Given the description of an element on the screen output the (x, y) to click on. 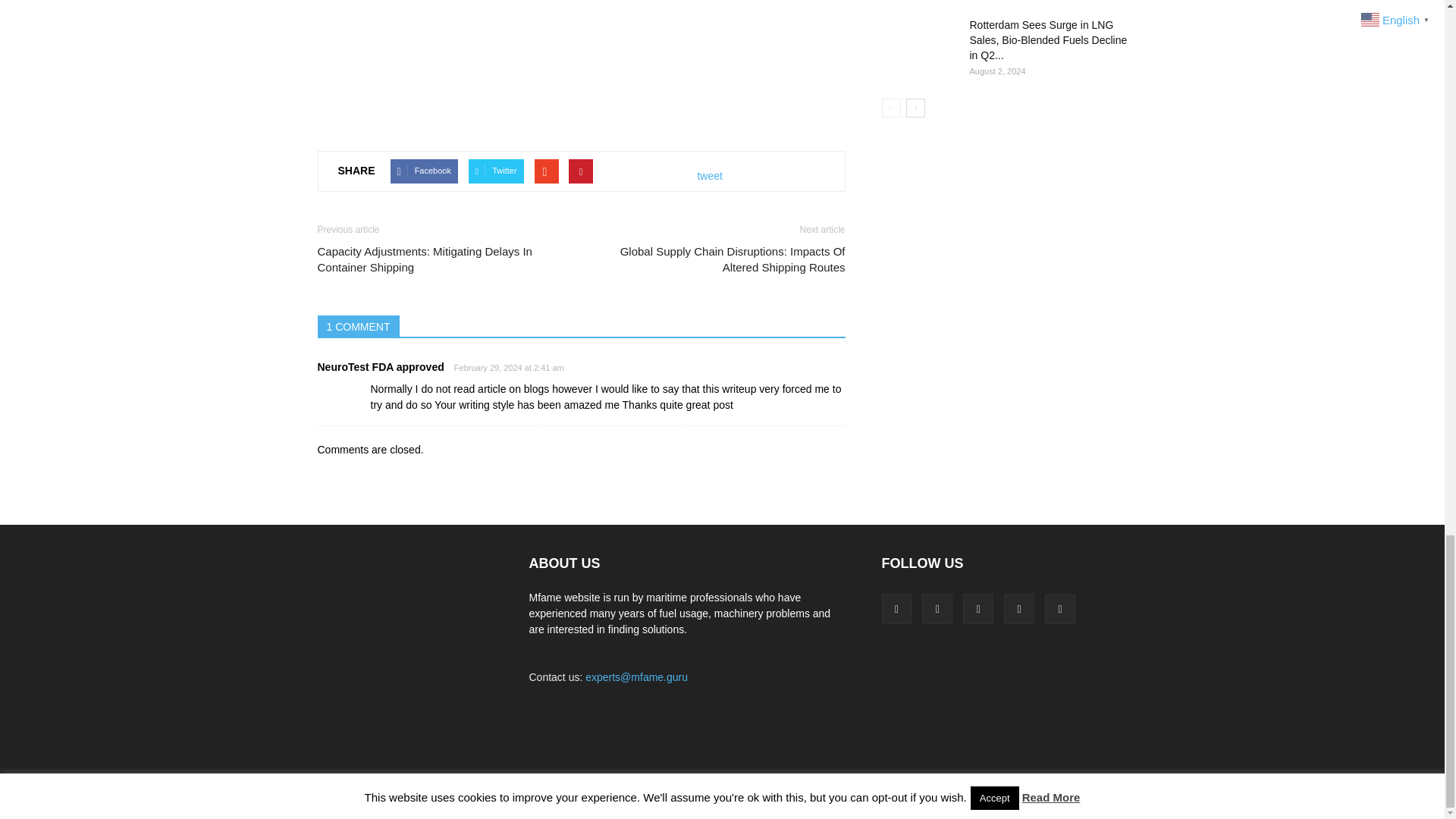
VL1new (580, 31)
